Given the description of an element on the screen output the (x, y) to click on. 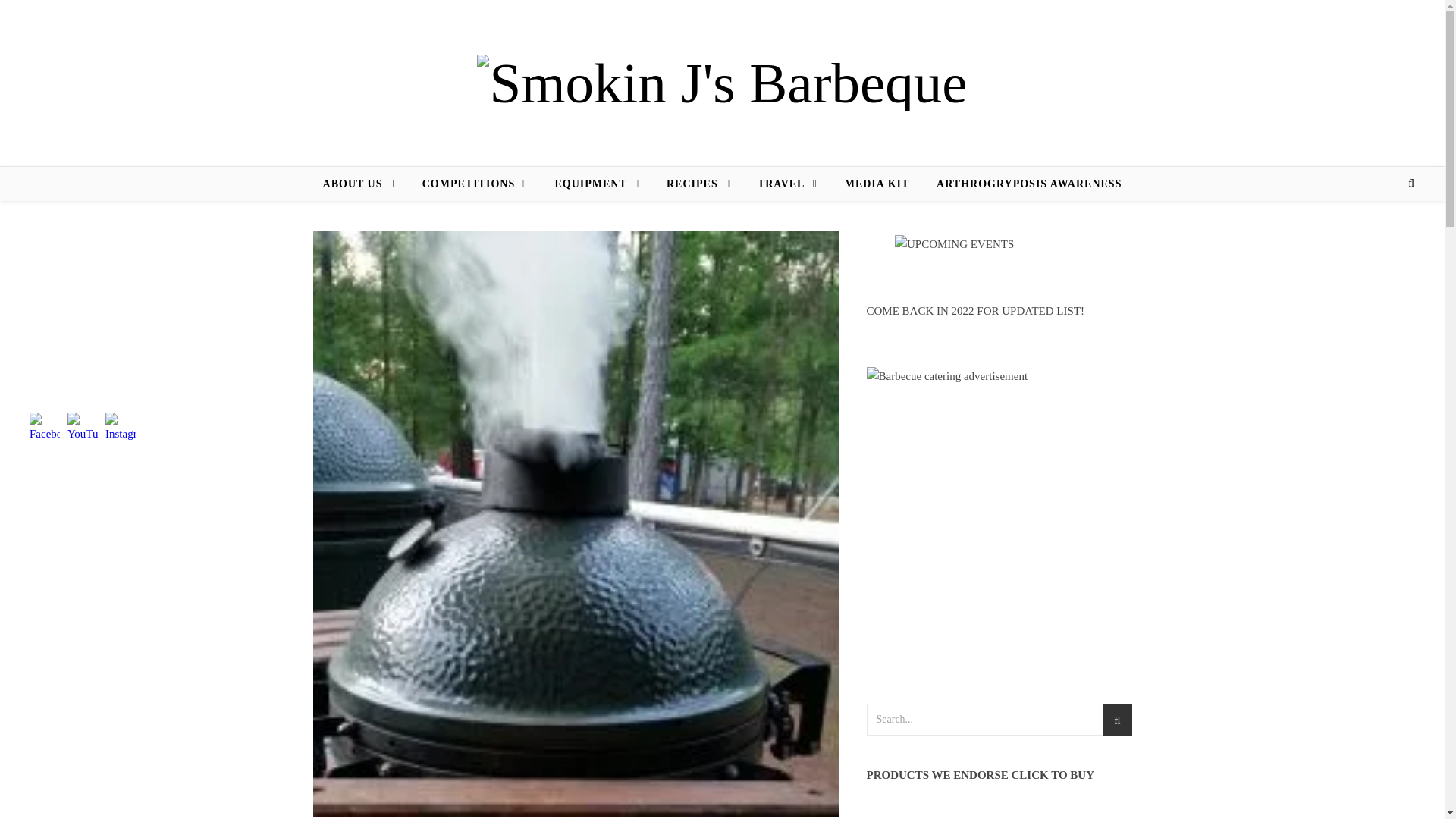
RECIPES (697, 183)
COMPETITIONS (475, 183)
ARTHROGRYPOSIS AWARENESS (1022, 183)
MEDIA KIT (876, 183)
ABOUT US (365, 183)
Smokin J's Barbeque (721, 82)
Facebook (44, 427)
Instagram (119, 427)
EQUIPMENT (595, 183)
YouTube (81, 427)
TRAVEL (787, 183)
